Given the description of an element on the screen output the (x, y) to click on. 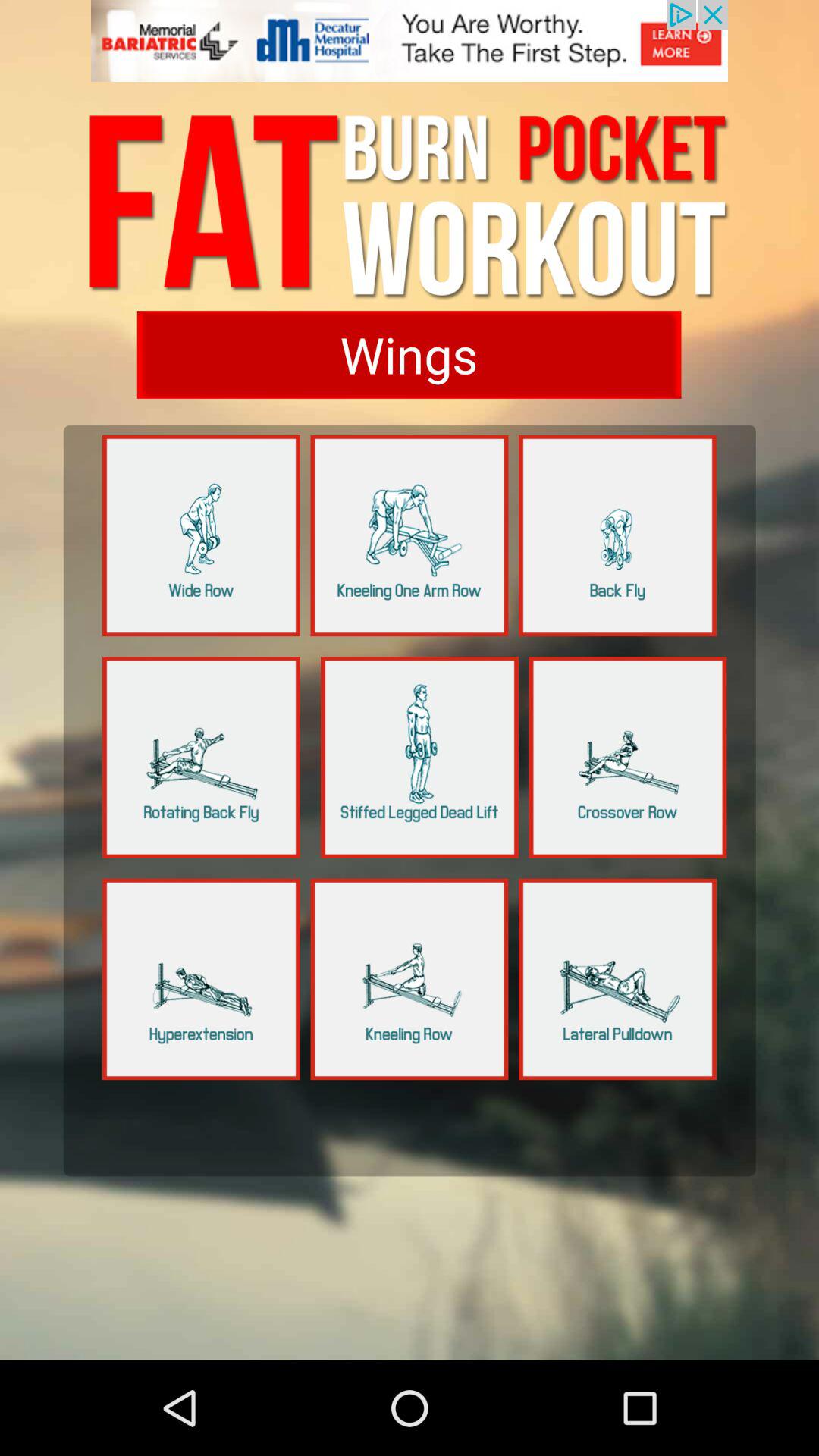
choose the stiffed legged dead lift exercise (419, 757)
